Given the description of an element on the screen output the (x, y) to click on. 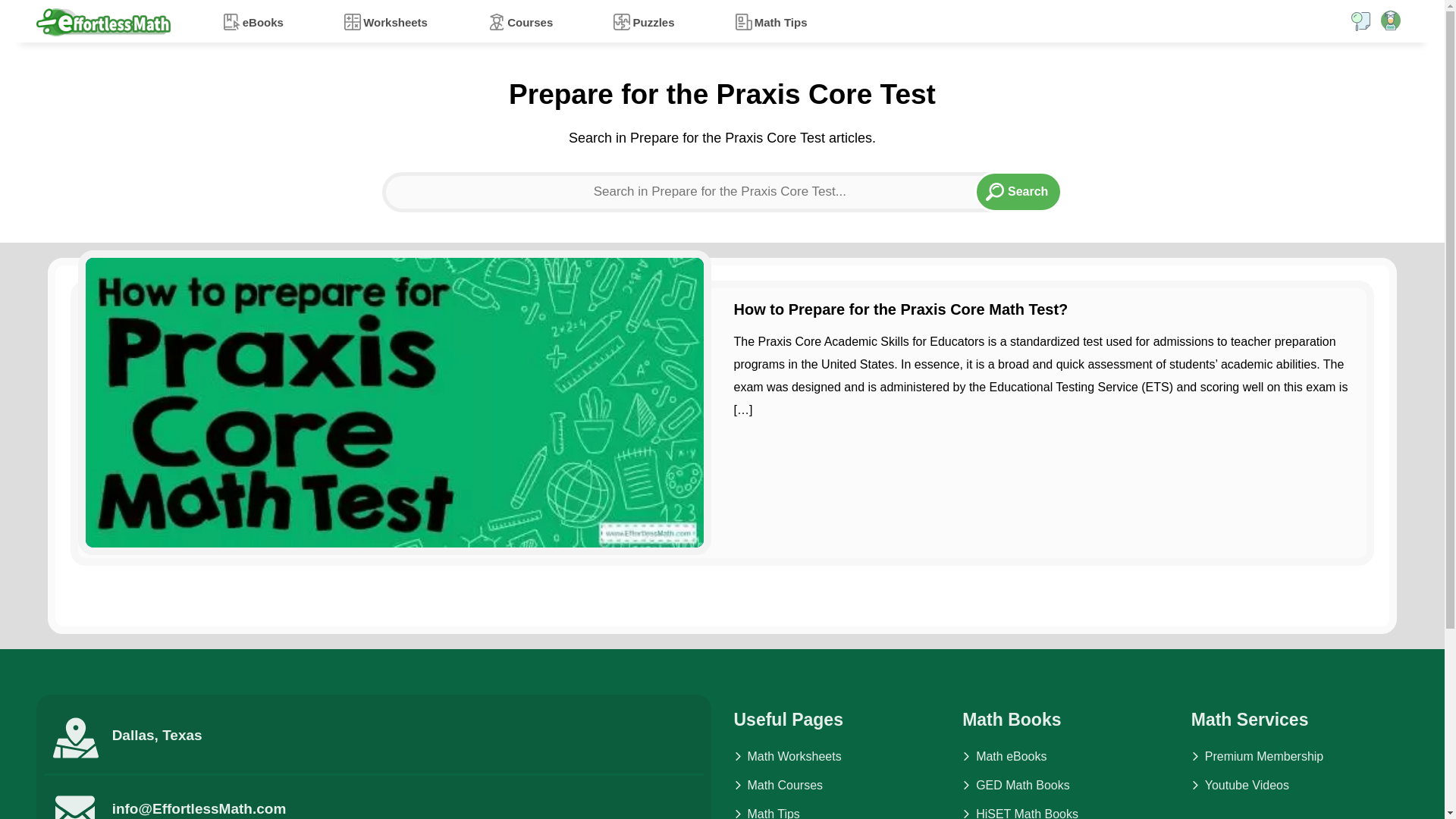
eBooks (253, 21)
Worksheets (385, 21)
Search (1018, 191)
Effortless Math (103, 21)
